Given the description of an element on the screen output the (x, y) to click on. 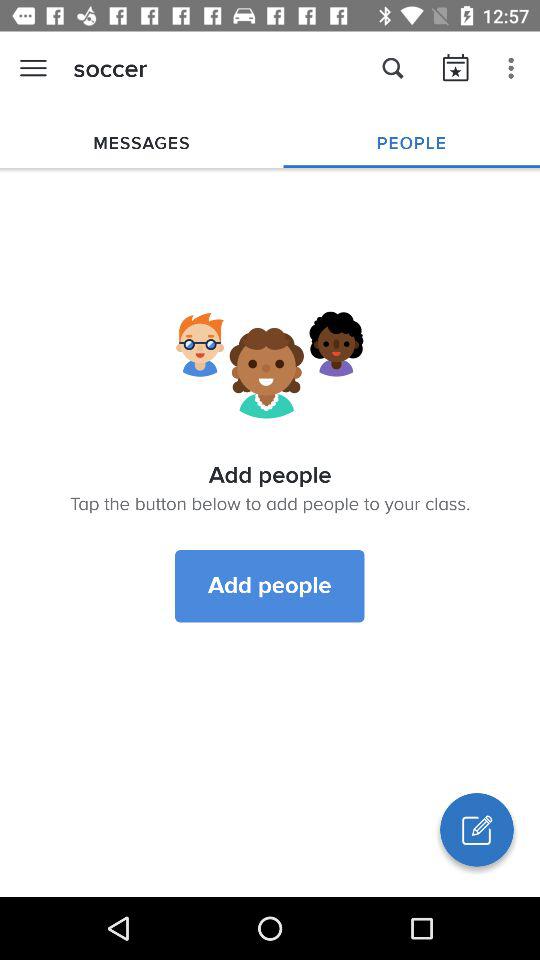
write button (477, 829)
